Given the description of an element on the screen output the (x, y) to click on. 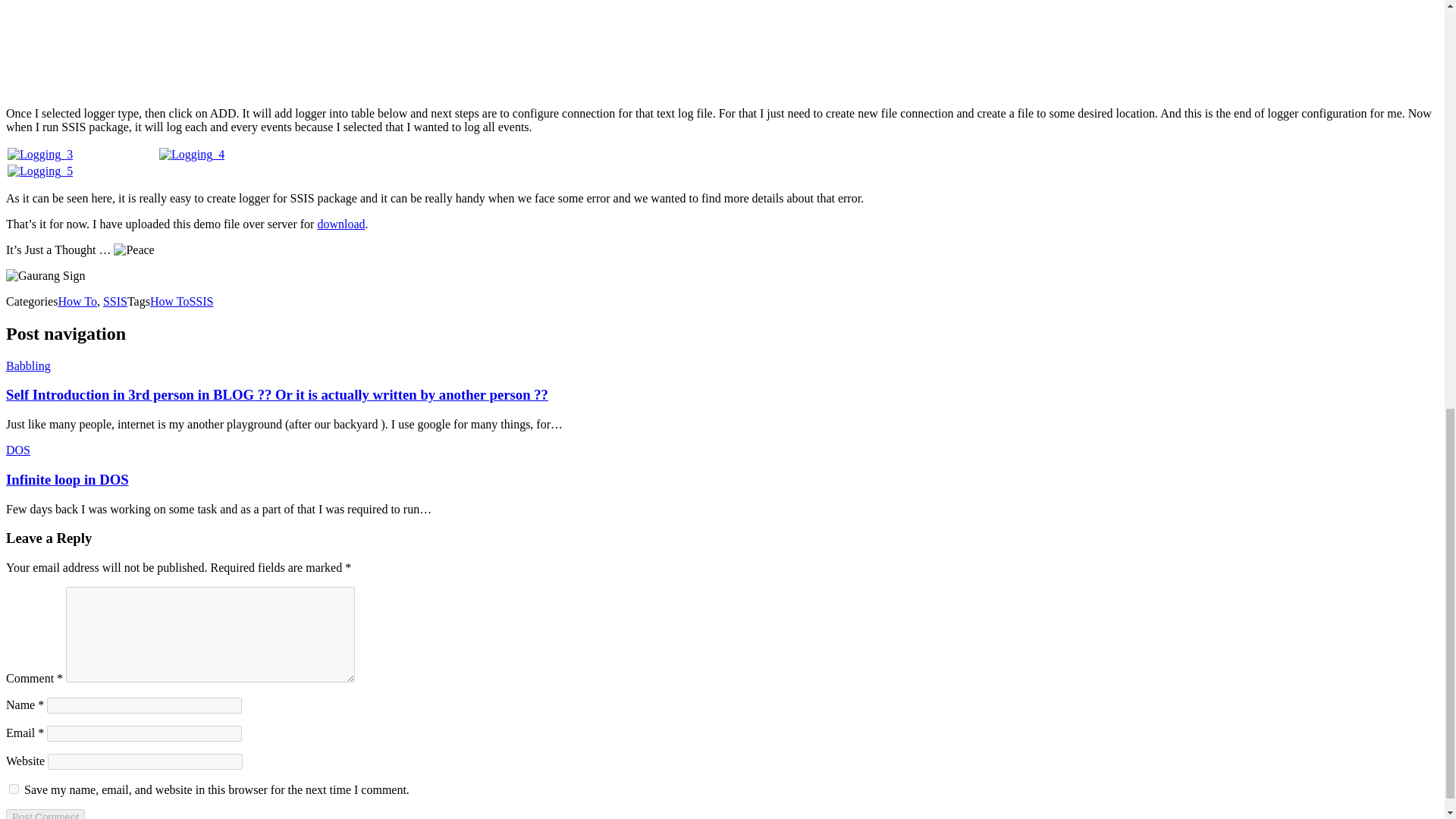
DOS (17, 449)
SSIS (200, 300)
Babbling (27, 365)
Infinite loop in DOS (67, 479)
SSIS (115, 300)
How To (169, 300)
download (341, 223)
How To (77, 300)
yes (13, 788)
